Given the description of an element on the screen output the (x, y) to click on. 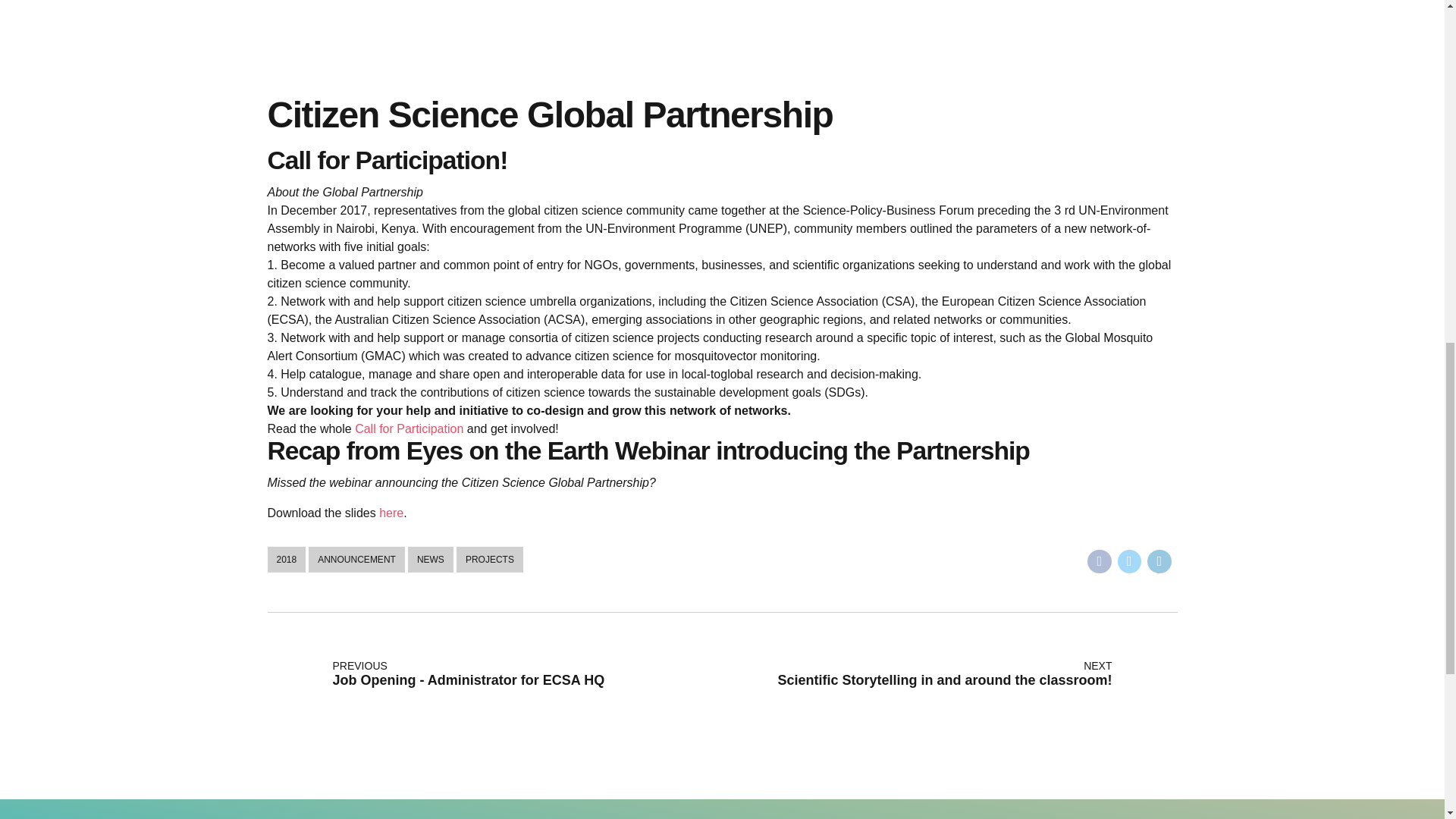
Share on Facebook (1099, 560)
ECSA News - Citizen Science Global Partnership (721, 33)
Share on Linkedin (1159, 560)
Share on Twitter (1129, 560)
